Given the description of an element on the screen output the (x, y) to click on. 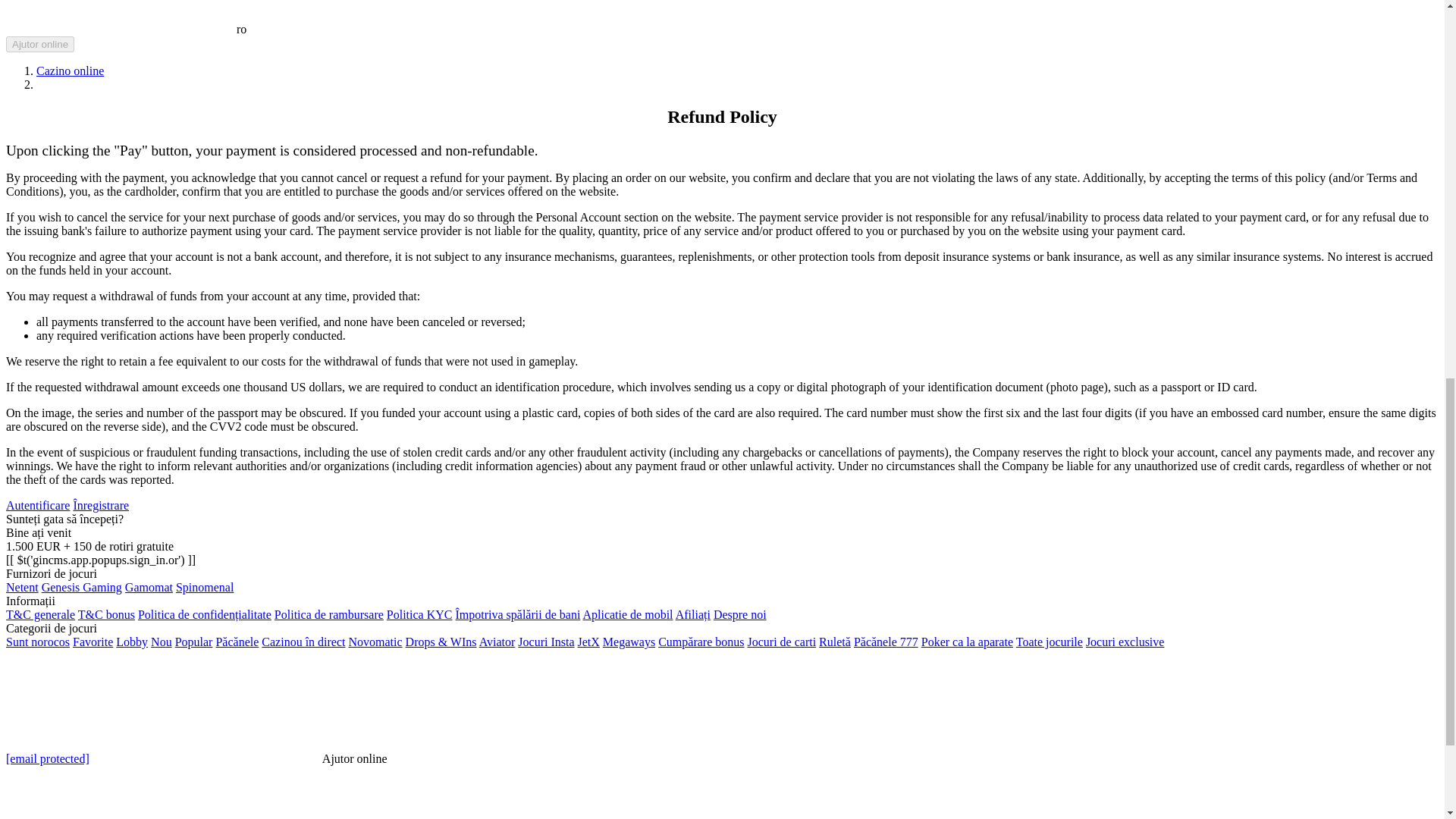
Despre noi (740, 614)
Ajutor online (39, 44)
Sunt norocos (37, 641)
Cazino online (69, 70)
Aplicatie de mobil (627, 614)
Genesis Gaming (82, 586)
Favorite (92, 641)
Gamomat (149, 586)
Politica KYC (419, 614)
Lobby (132, 641)
Politica de rambursare (329, 614)
Netent (22, 586)
Spinomenal (204, 586)
Autentificare (37, 504)
